Given the description of an element on the screen output the (x, y) to click on. 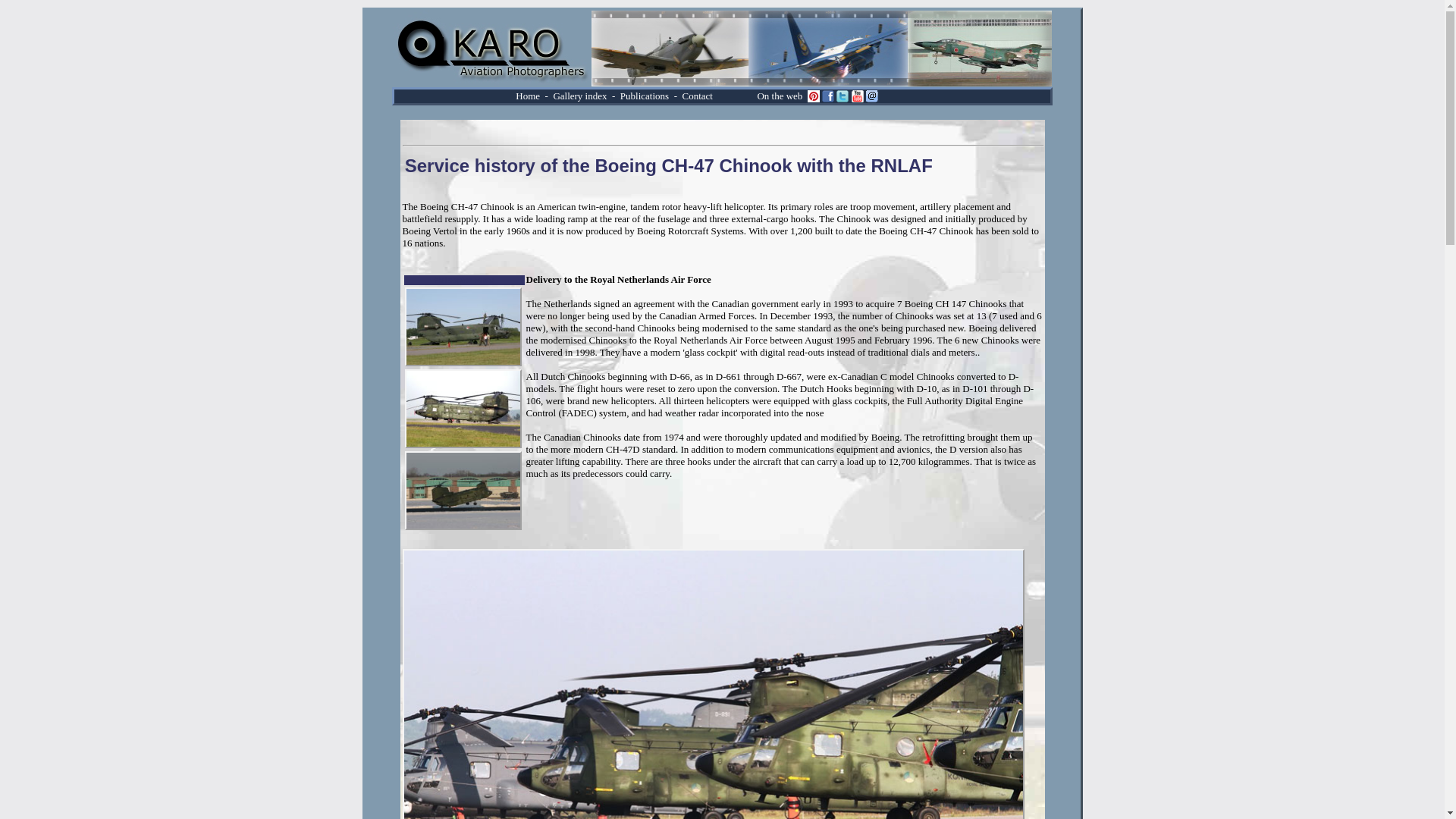
CH-47 Chinook (462, 408)
Home  (528, 95)
Gallery index  (580, 95)
CH-47 Chinook (462, 490)
Contact (696, 94)
Publications (644, 94)
CH-47 Chinook (462, 326)
